Given the description of an element on the screen output the (x, y) to click on. 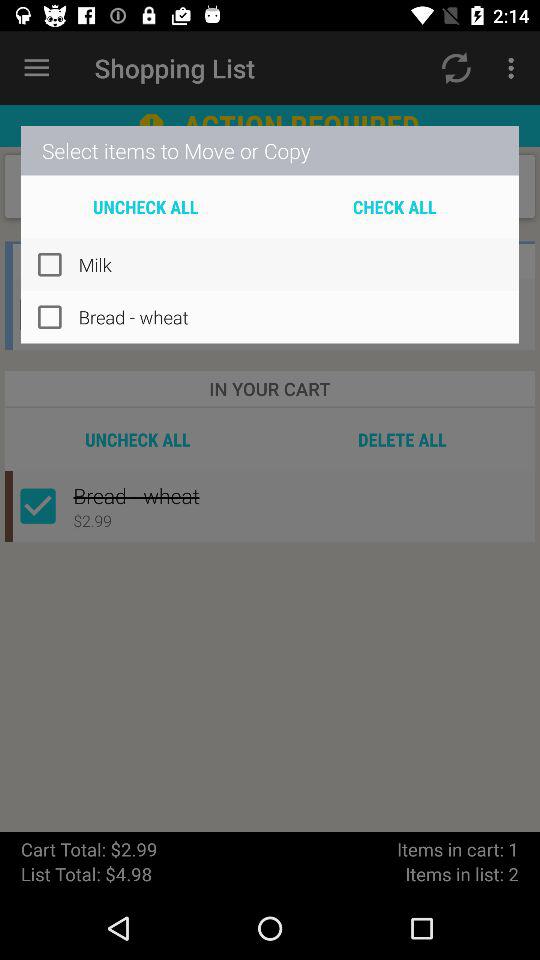
flip to the check all item (394, 206)
